Given the description of an element on the screen output the (x, y) to click on. 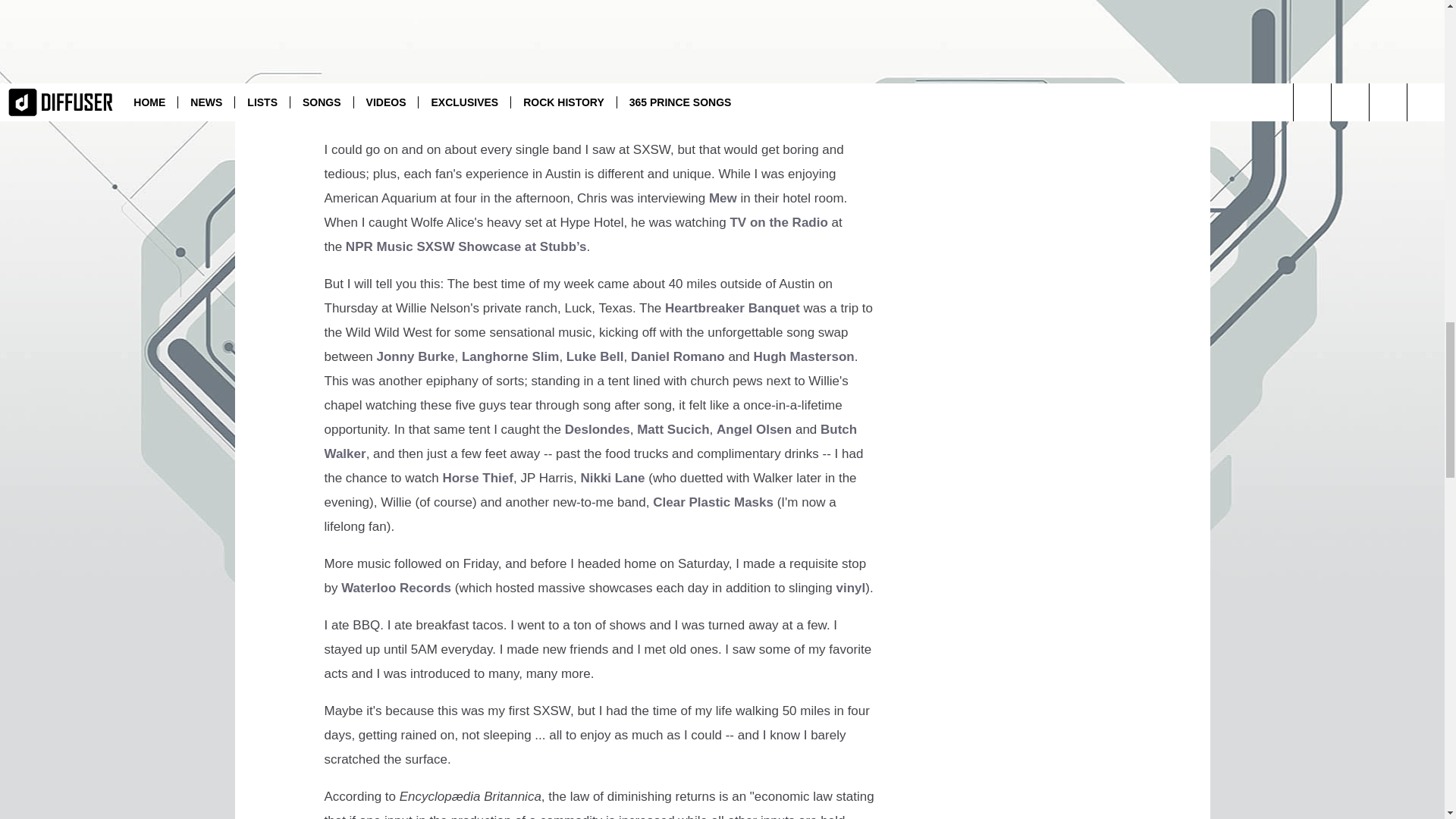
TV on the Radio (778, 222)
Anthony D'Amato (464, 112)
Laura Marling (786, 88)
Mew (722, 197)
Natalie Prass (696, 88)
Wolf Alice (651, 112)
Best Coast (558, 112)
